Given the description of an element on the screen output the (x, y) to click on. 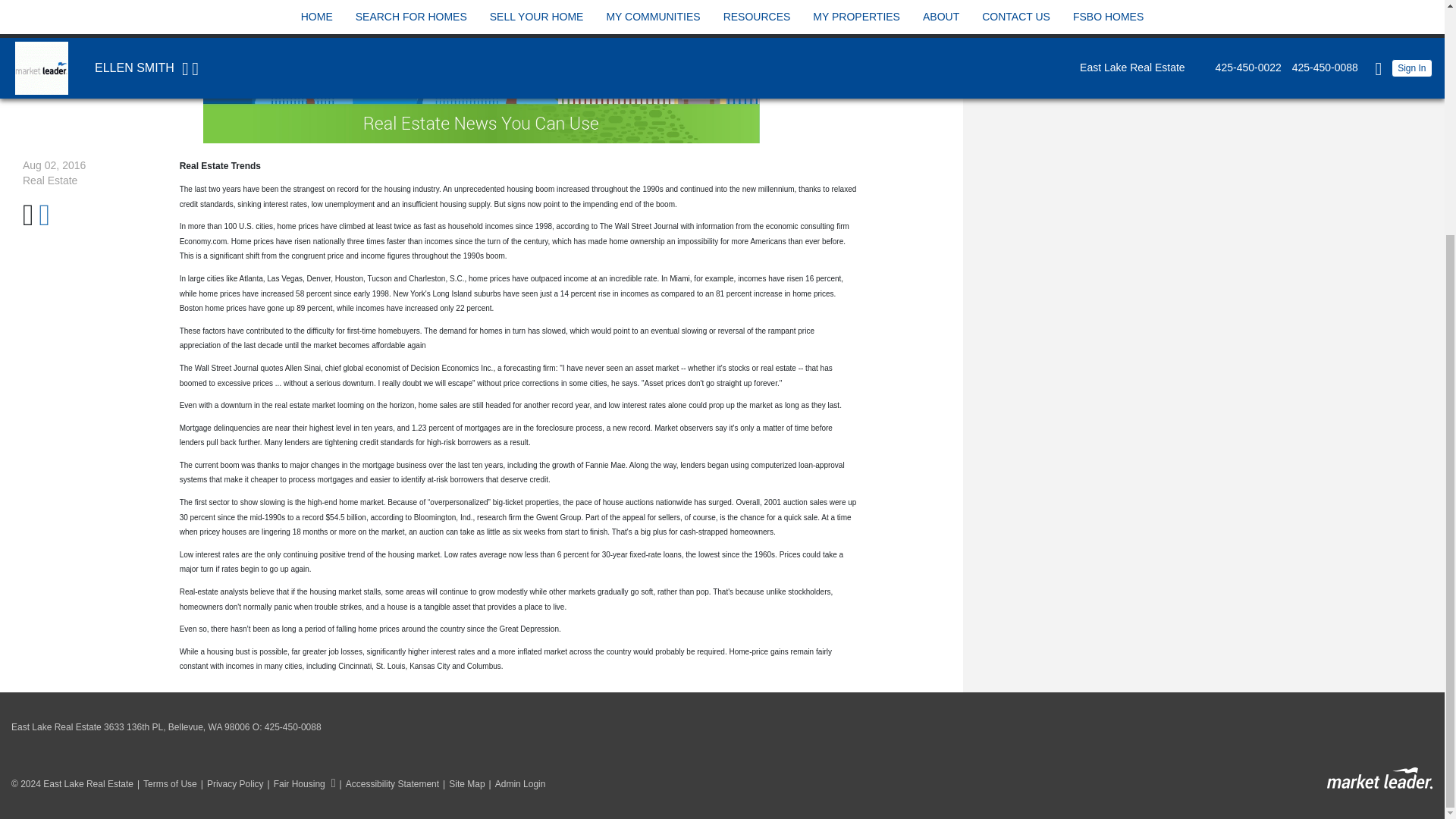
Fair Housing (299, 784)
425-450-0088 (292, 726)
Admin Login (515, 784)
Terms of Use (164, 784)
Accessibility Statement (387, 784)
Privacy Policy (229, 784)
Site Map (461, 784)
Powered By Market Leader (1379, 778)
